Given the description of an element on the screen output the (x, y) to click on. 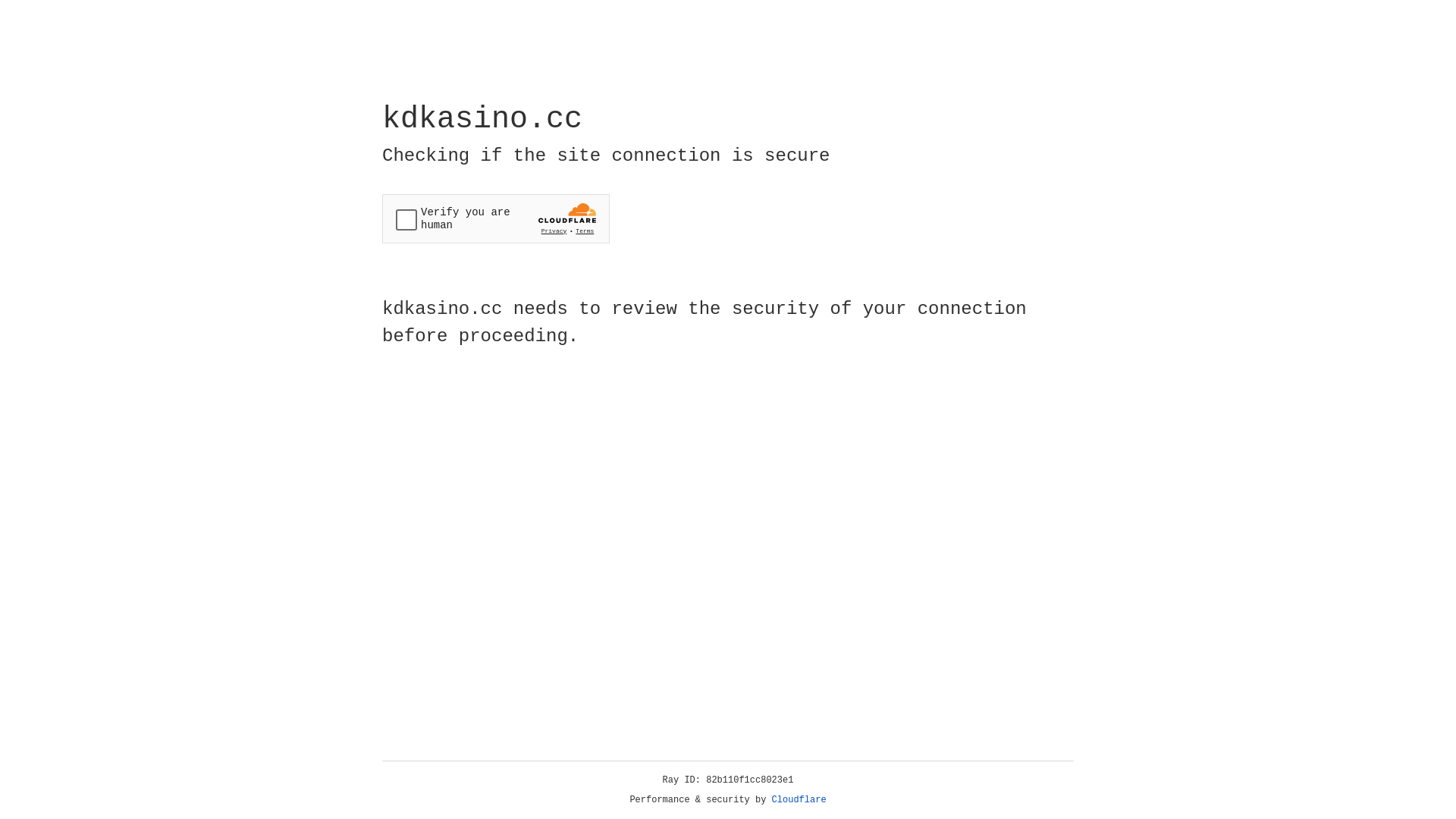
Cloudflare Element type: text (798, 799)
Widget containing a Cloudflare security challenge Element type: hover (495, 218)
